Given the description of an element on the screen output the (x, y) to click on. 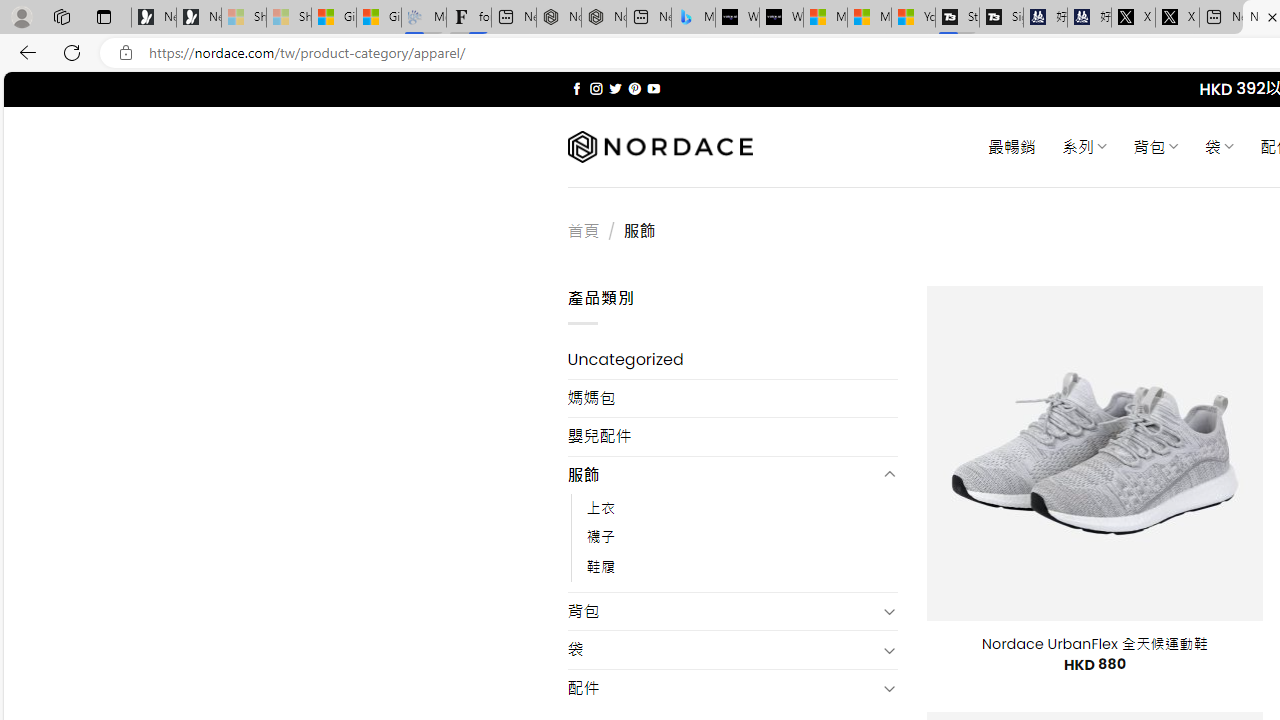
Streaming Coverage | T3 (957, 17)
Uncategorized (732, 359)
Nordace - #1 Japanese Best-Seller - Siena Smart Backpack (603, 17)
